Given the description of an element on the screen output the (x, y) to click on. 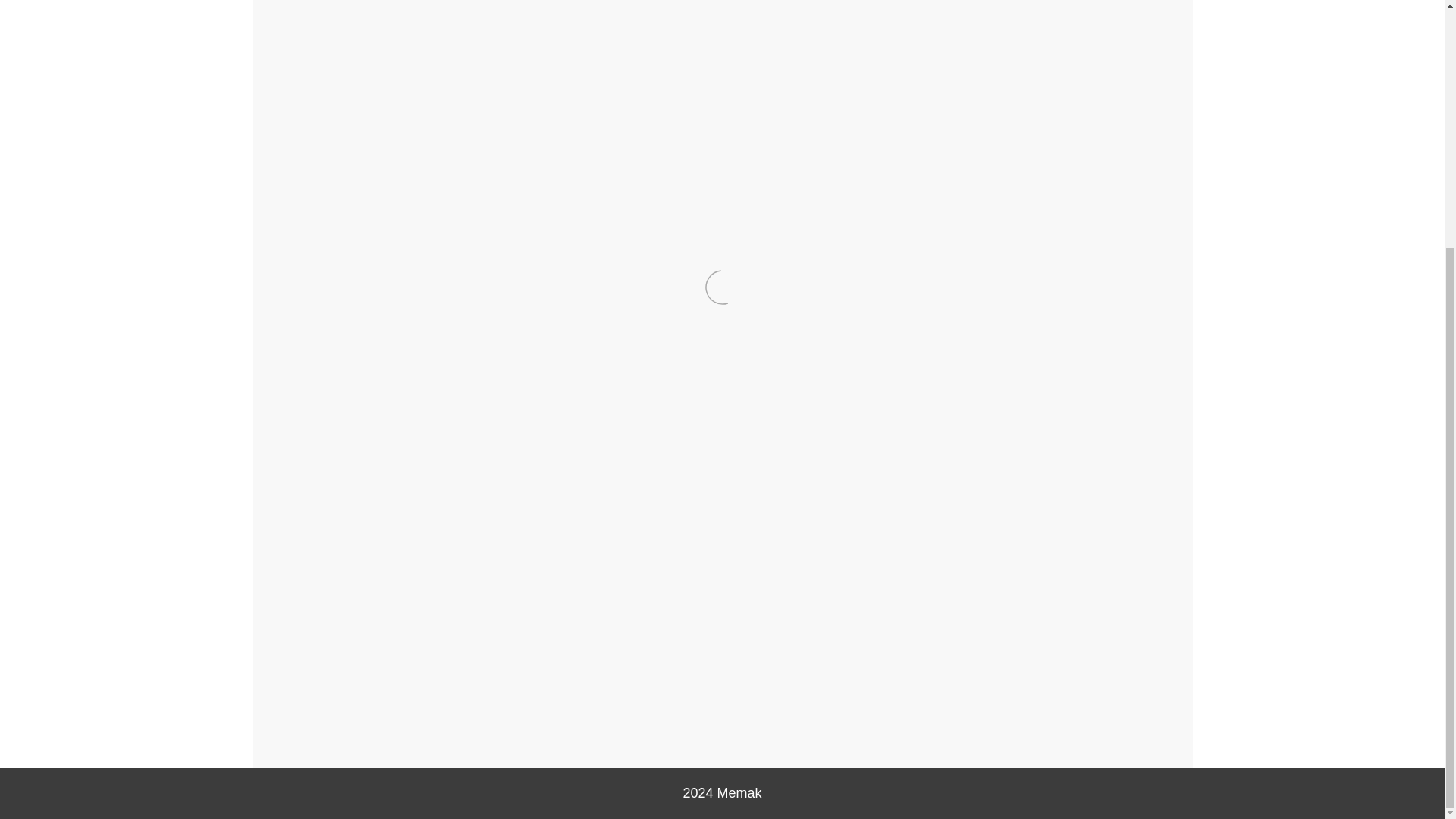
UNCATEGORIZED (303, 708)
